Given the description of an element on the screen output the (x, y) to click on. 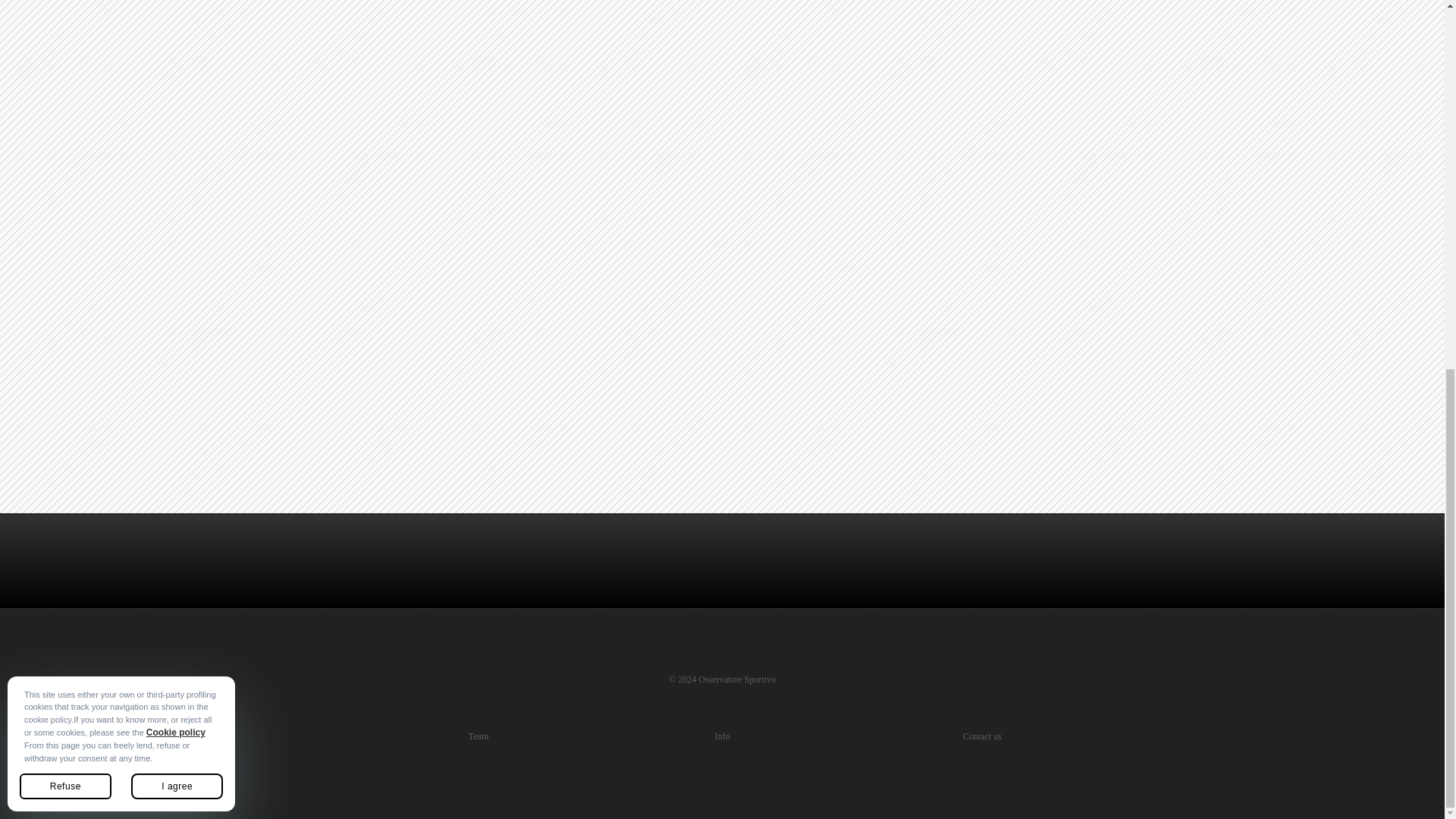
Team (477, 735)
Cookie policy (176, 62)
Contact (977, 736)
Info (721, 735)
